Given the description of an element on the screen output the (x, y) to click on. 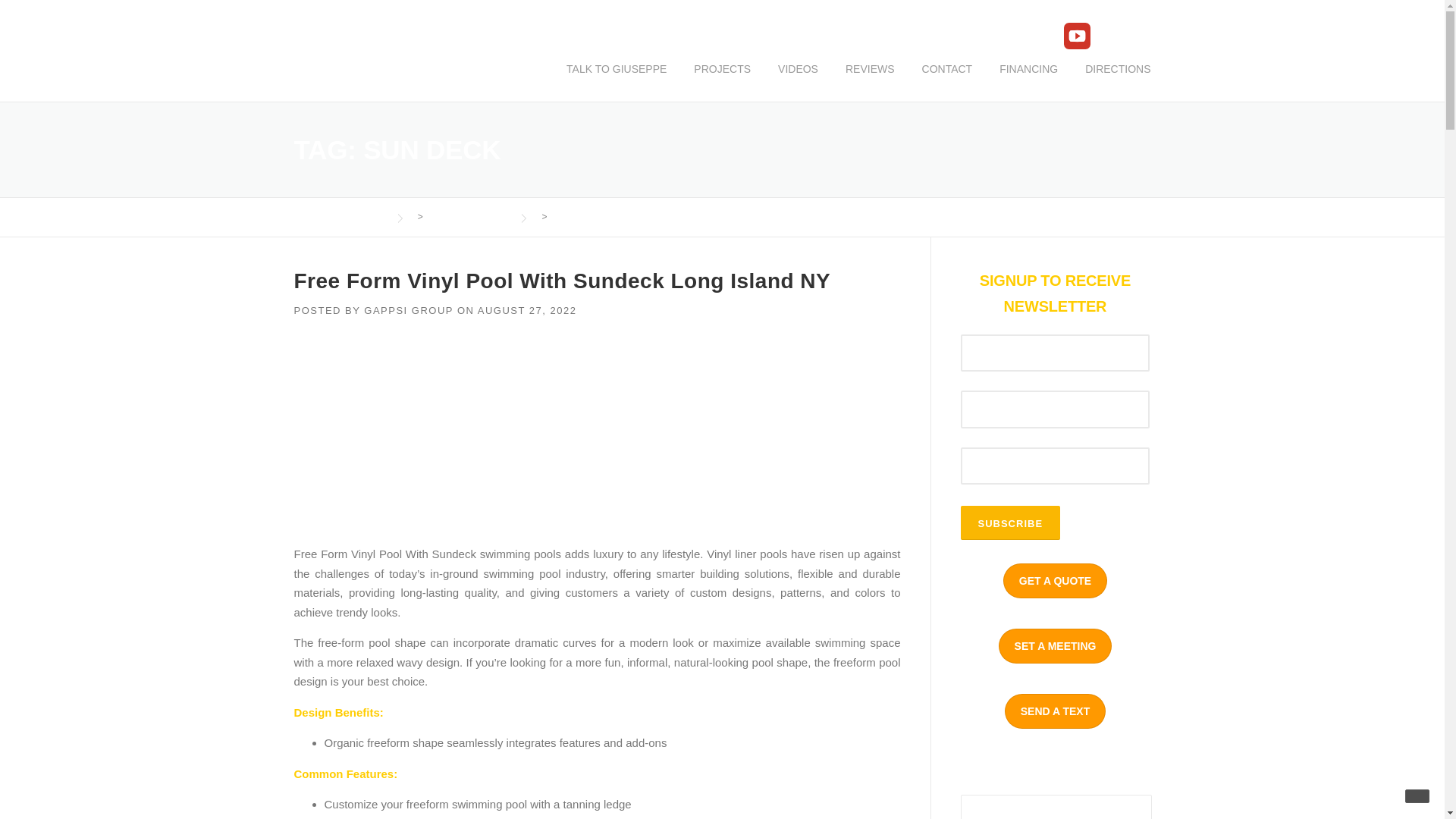
PROJECTS (721, 80)
Latest News (466, 216)
Go to Latest News. (466, 216)
FINANCING (1028, 80)
Go to Gappsi Group. (339, 216)
GAPPSI GROUP (408, 310)
CONTACT (947, 80)
REVIEWS (869, 80)
TALK TO GIUSEPPE (616, 80)
Free Form Vinyl Pool With Sundeck Long Island NY (562, 280)
